Given the description of an element on the screen output the (x, y) to click on. 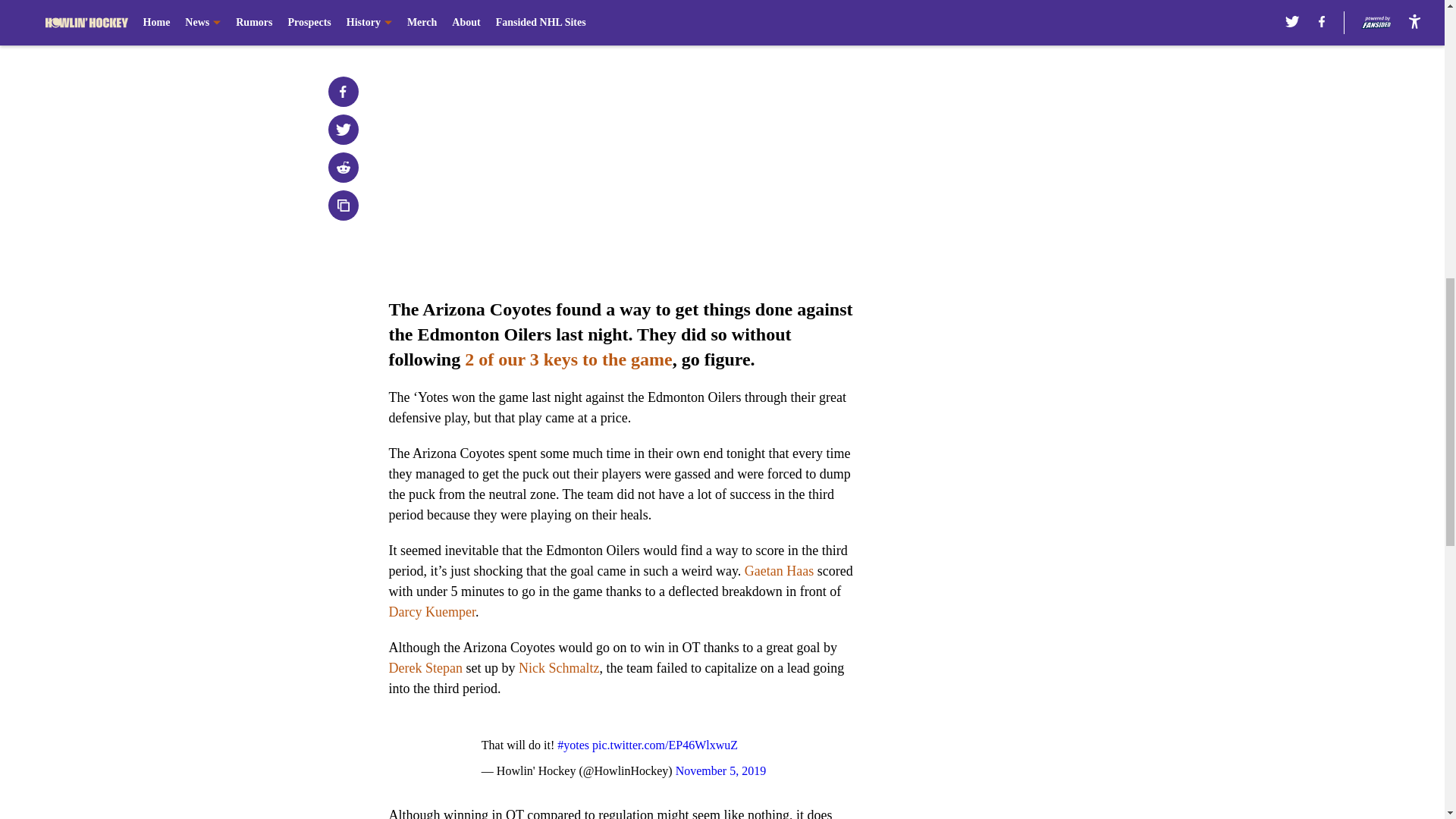
Darcy Kuemper (431, 611)
2 of our 3 keys to the game (568, 359)
Gaetan Haas (778, 570)
Derek Stepan (424, 667)
November 5, 2019 (721, 770)
Nick Schmaltz (558, 667)
